Given the description of an element on the screen output the (x, y) to click on. 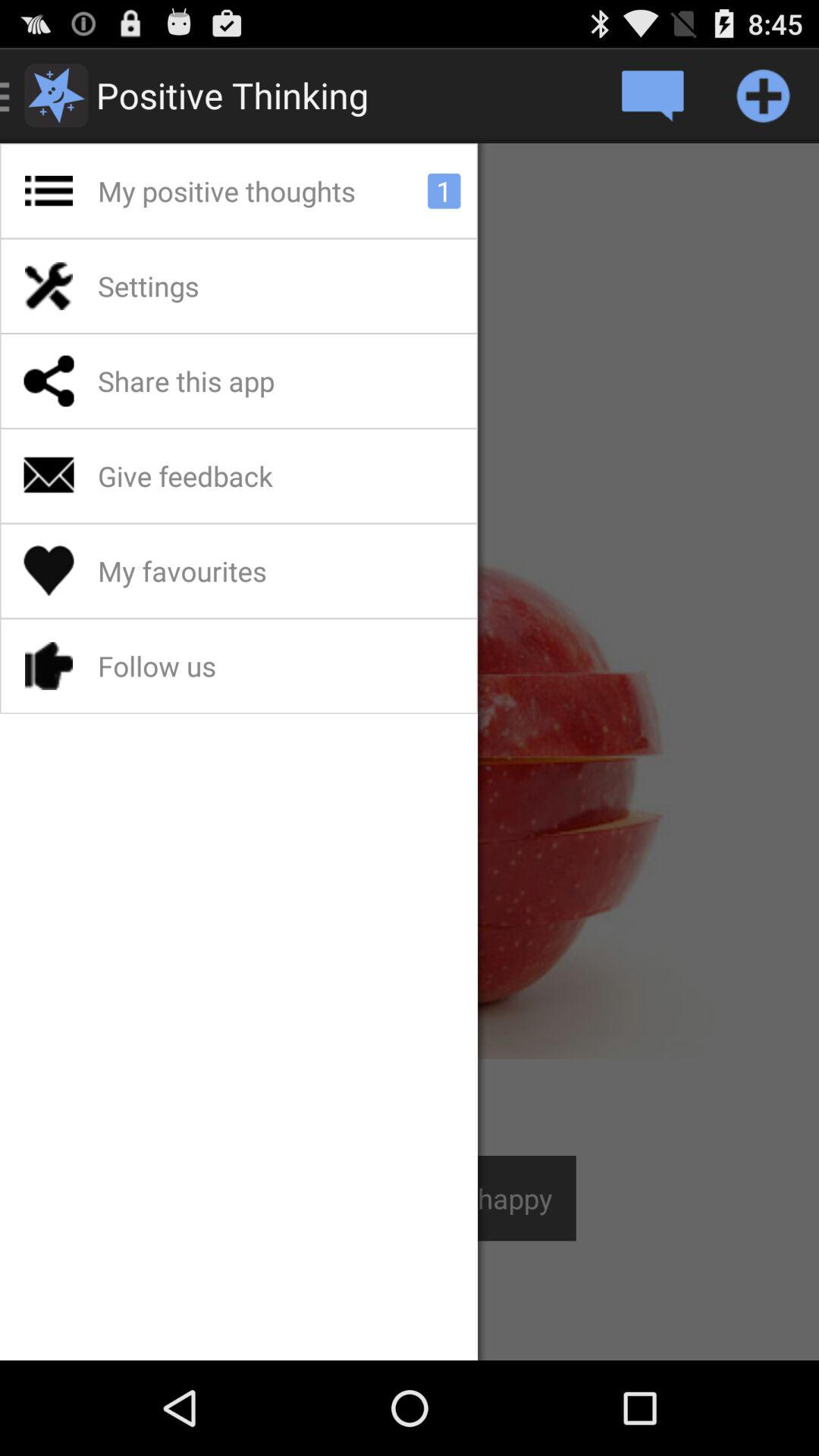
create personal quote (651, 95)
